Given the description of an element on the screen output the (x, y) to click on. 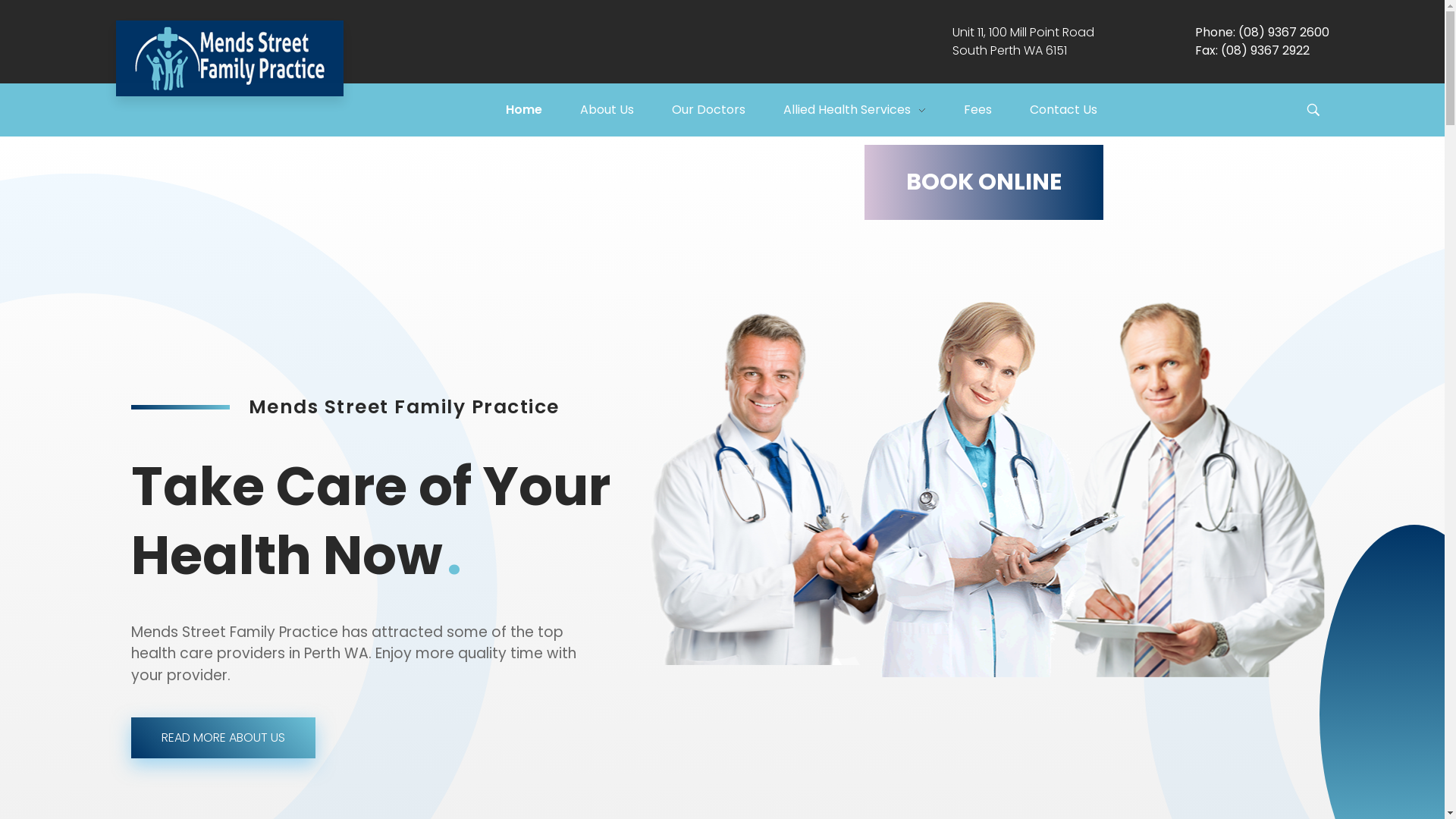
Fax: (08) 9367 2922 Element type: text (1252, 50)
Phone: (08) 9367 2600 Element type: text (1262, 31)
Home Element type: text (542, 109)
Unit 11, 100 Mill Point Road
South Perth WA 6151 Element type: text (1023, 41)
READ MORE ABOUT US Element type: text (222, 737)
About Us Element type: text (625, 109)
Mends Street Family Practice Element type: hover (228, 58)
Contact Us Element type: text (1082, 109)
Our Doctors Element type: text (727, 109)
Fees Element type: text (996, 109)
BOOK ONLINE Element type: text (982, 181)
Allied Health Services Element type: text (872, 109)
Mends Street Family Practice Element type: text (241, 104)
